Given the description of an element on the screen output the (x, y) to click on. 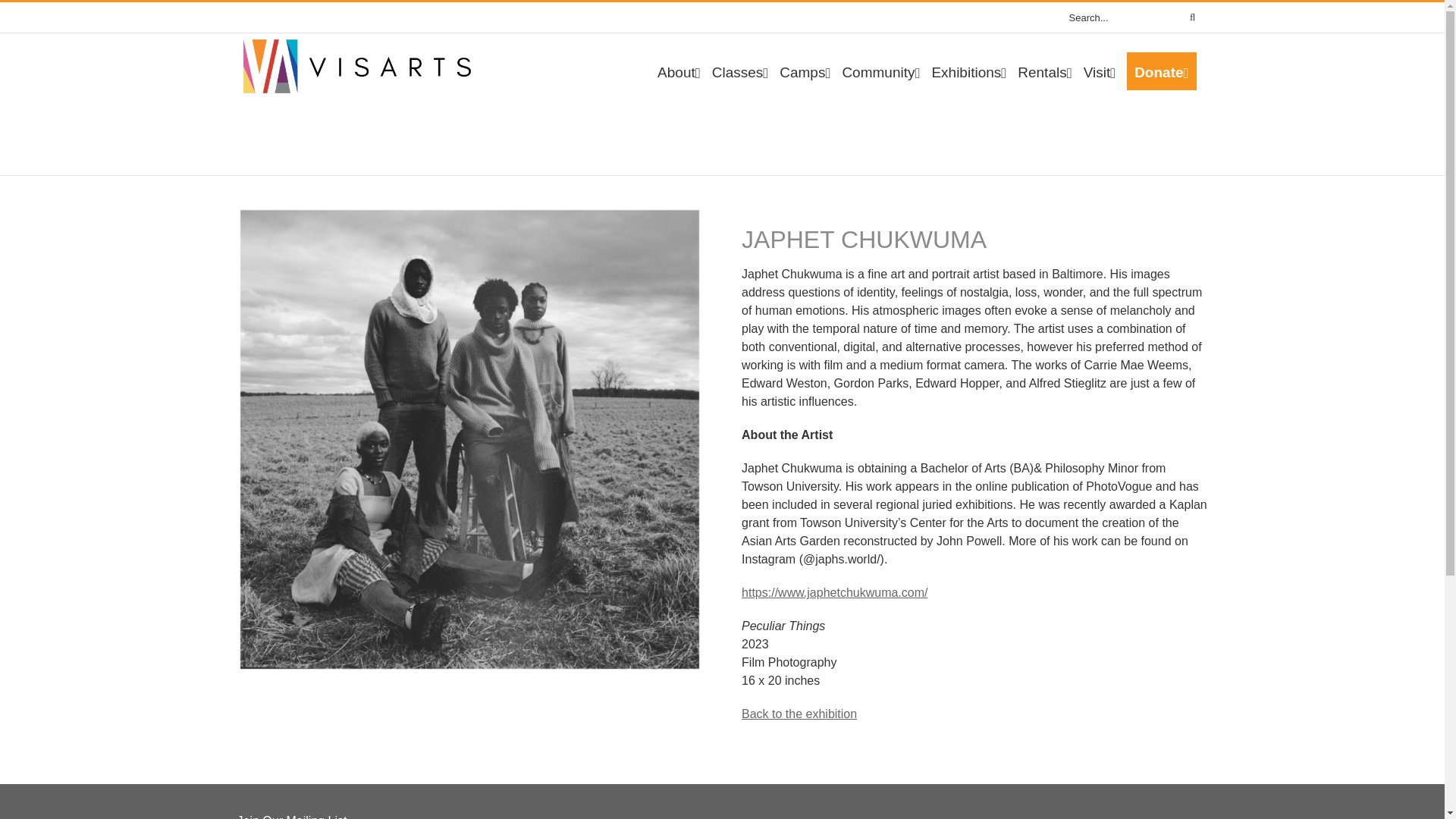
Camps (803, 70)
About (679, 70)
Classes (739, 70)
